Given the description of an element on the screen output the (x, y) to click on. 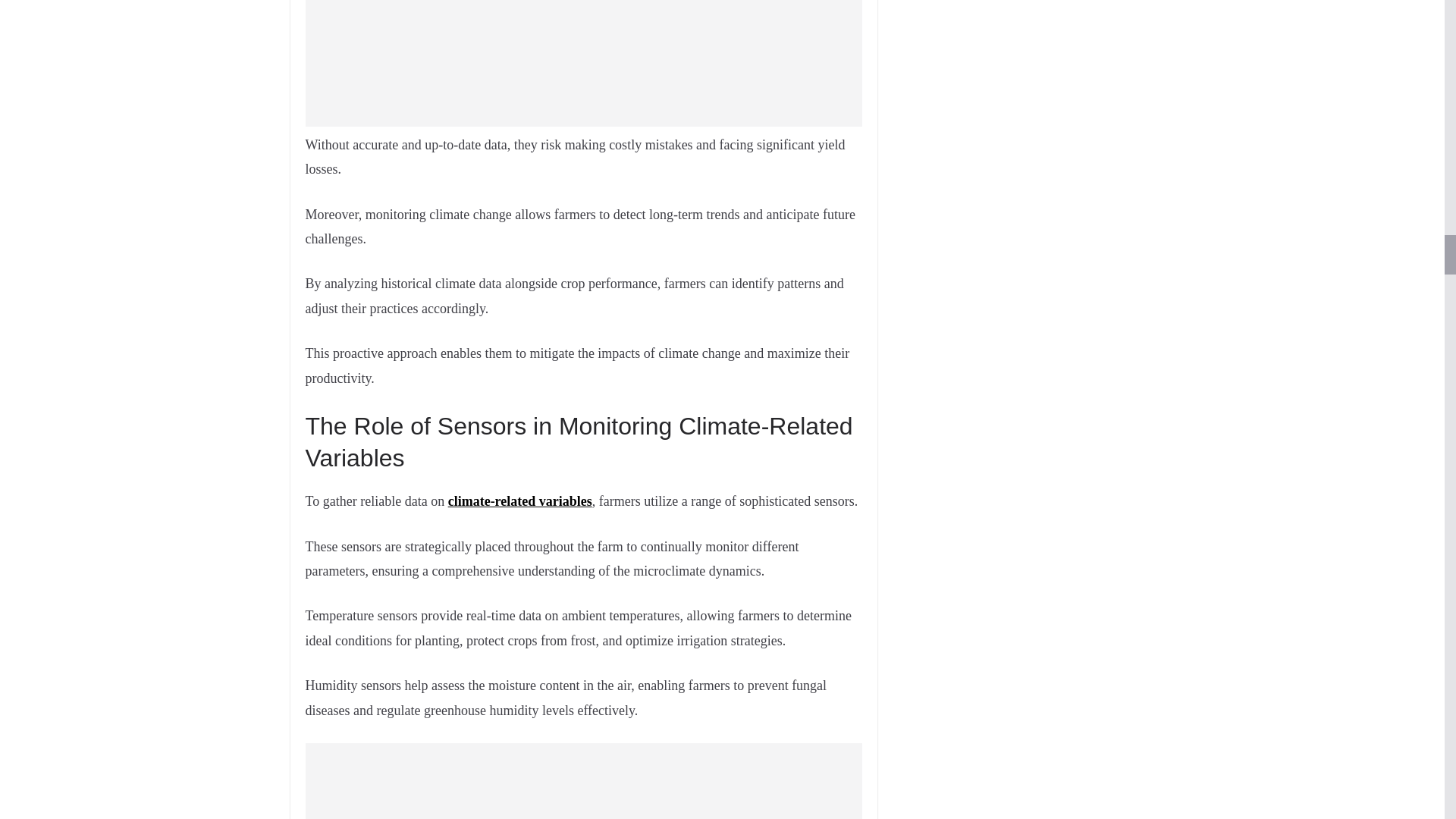
climate-related variables (520, 500)
